Given the description of an element on the screen output the (x, y) to click on. 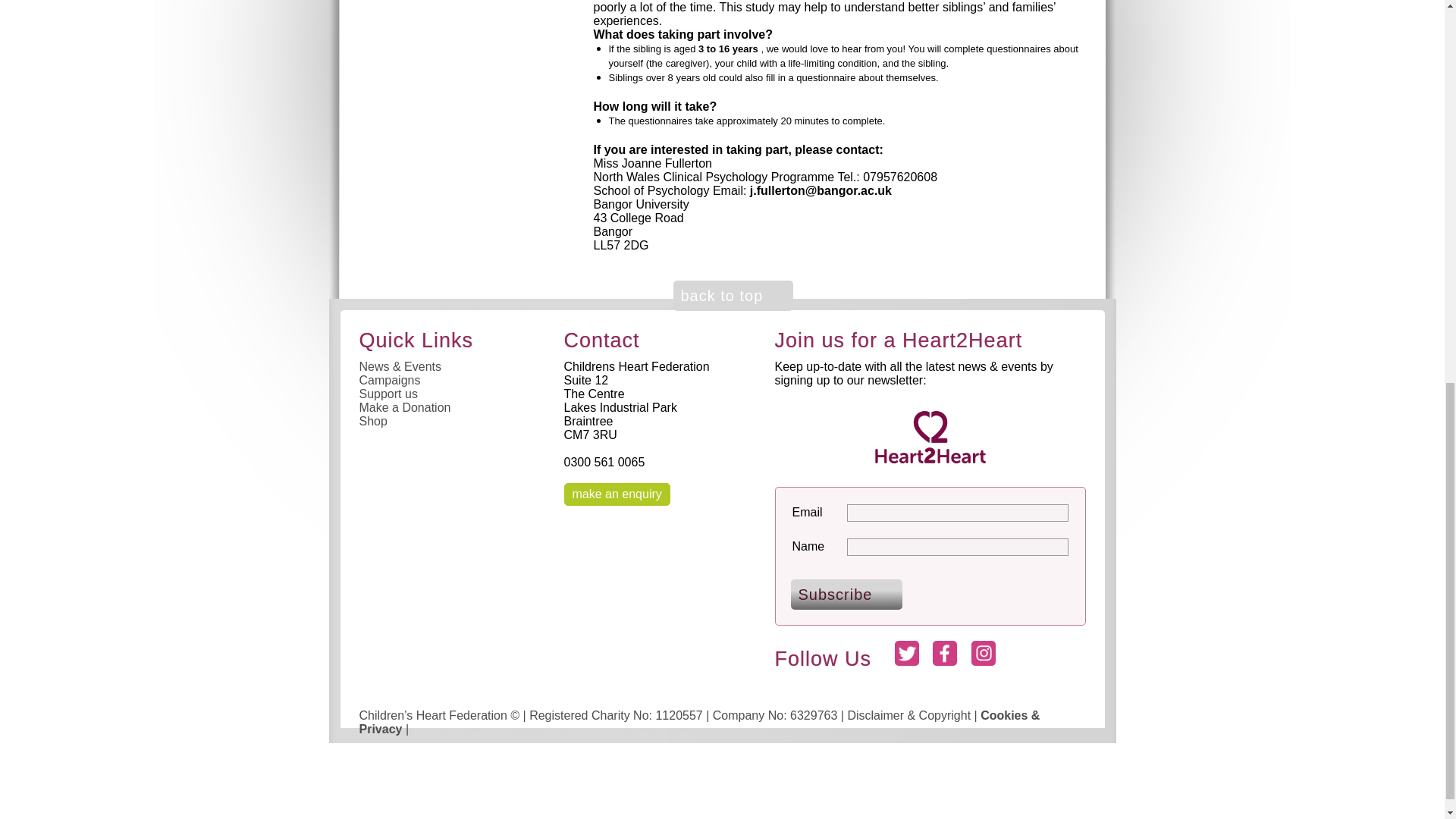
back to top (732, 295)
Subscribe (846, 594)
